Given the description of an element on the screen output the (x, y) to click on. 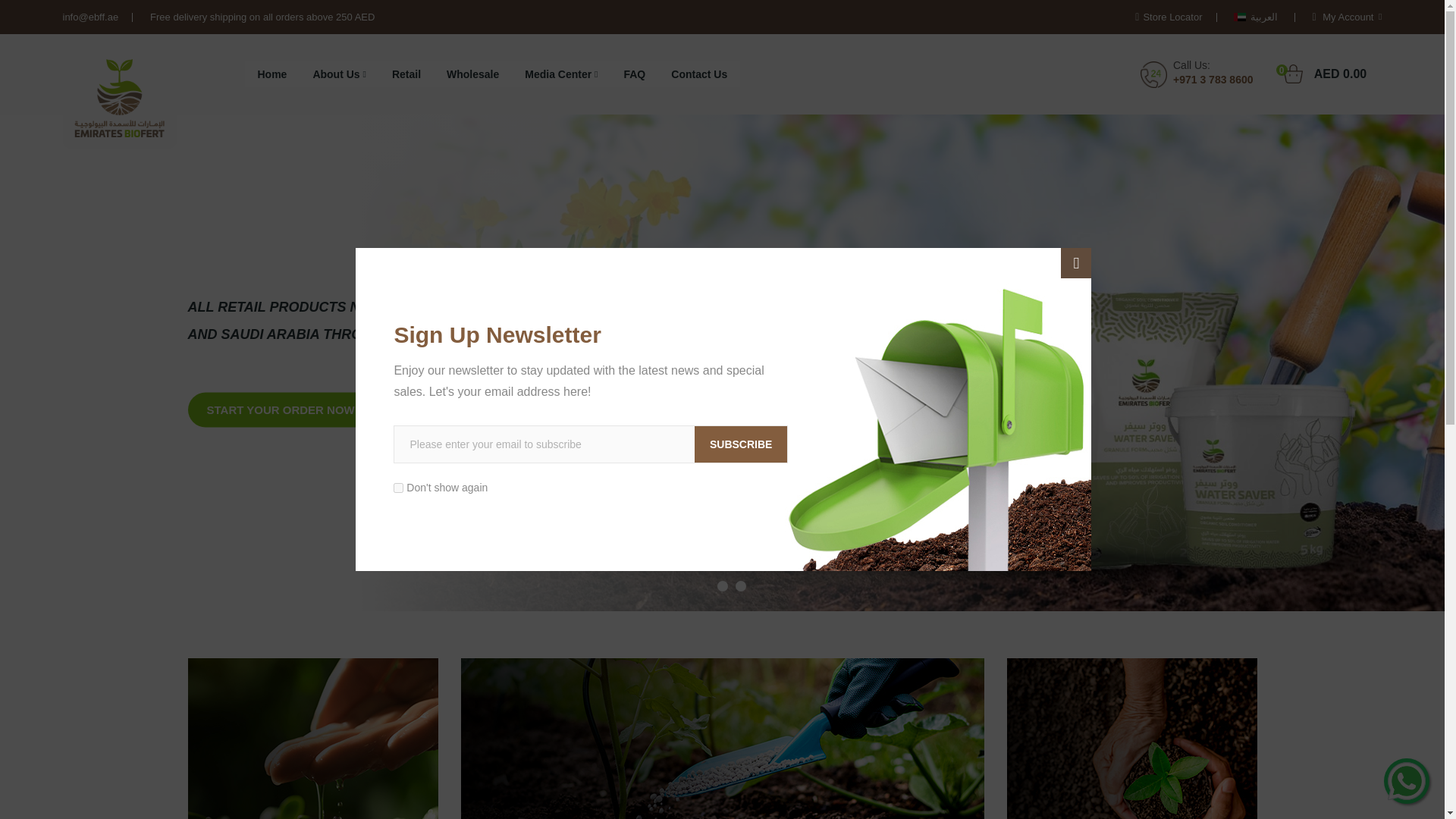
Contact Us (698, 73)
Store Locator (1168, 17)
Store Locator (1168, 17)
My Account (1347, 17)
Start Your Order Now (1331, 73)
Retail (280, 410)
Close (405, 73)
FAQ (1075, 263)
on (634, 73)
Wholesale (398, 488)
My Account (472, 73)
Media Center (1347, 17)
Home (561, 73)
About Us (271, 73)
